Given the description of an element on the screen output the (x, y) to click on. 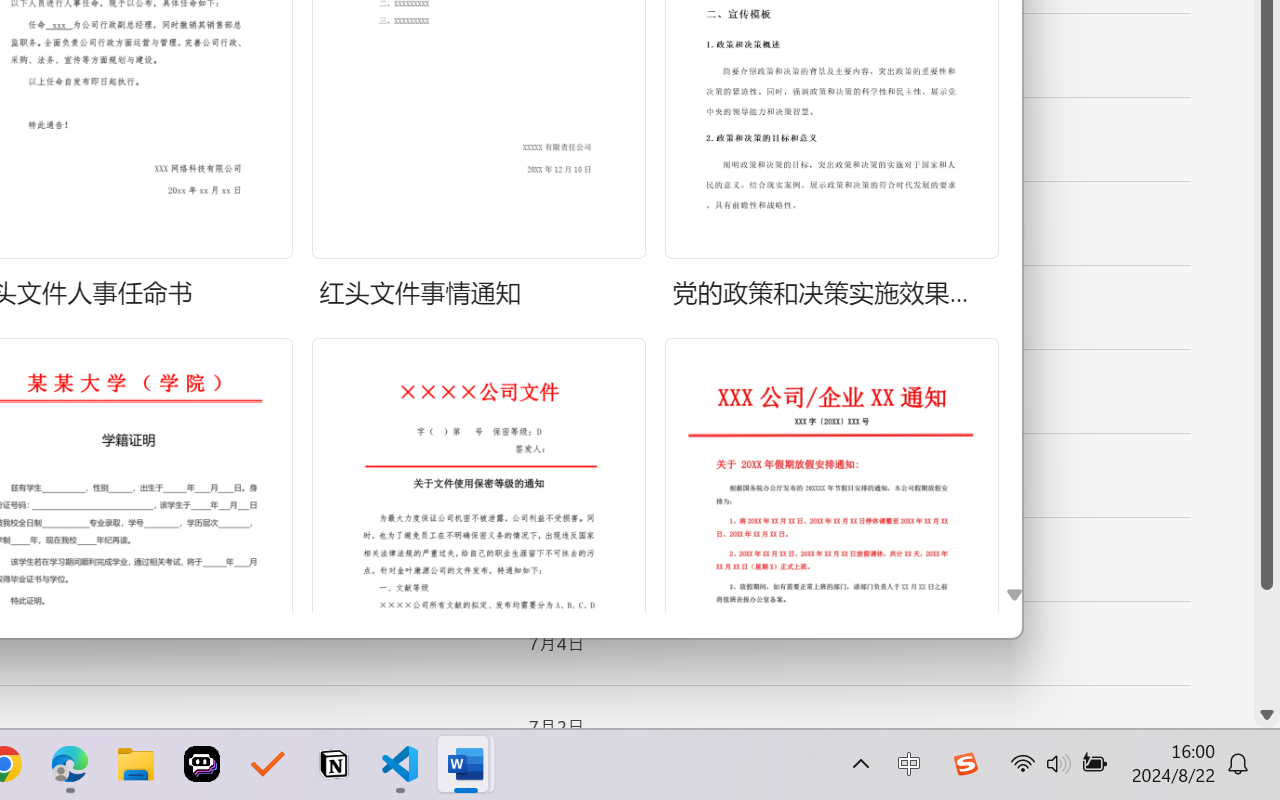
Class: Image (965, 764)
Notion (333, 764)
Something.md (1192, 288)
edit (1192, 140)
Poe (201, 764)
